Given the description of an element on the screen output the (x, y) to click on. 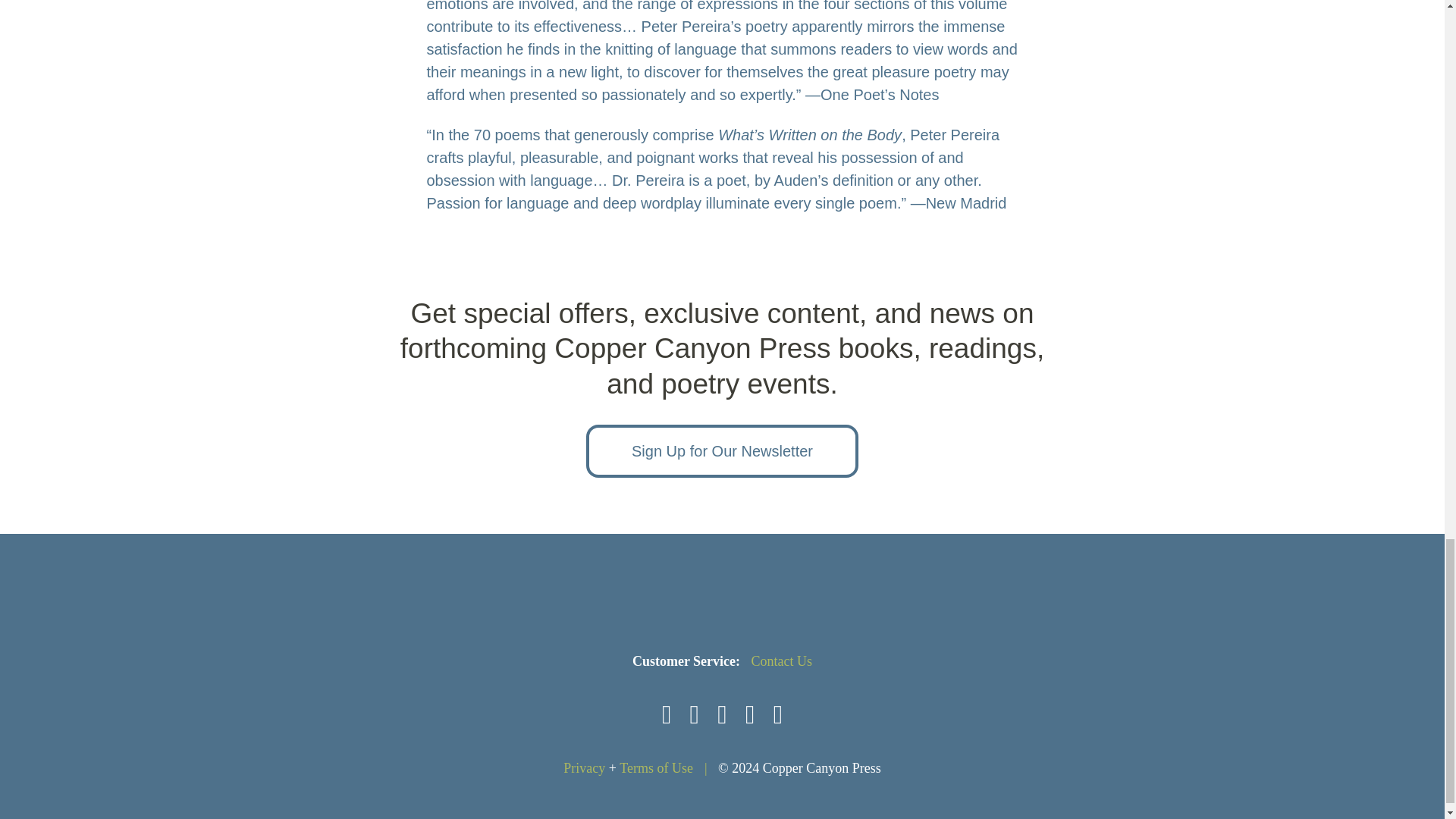
Sign Up for Our Newsletter (722, 451)
